Given the description of an element on the screen output the (x, y) to click on. 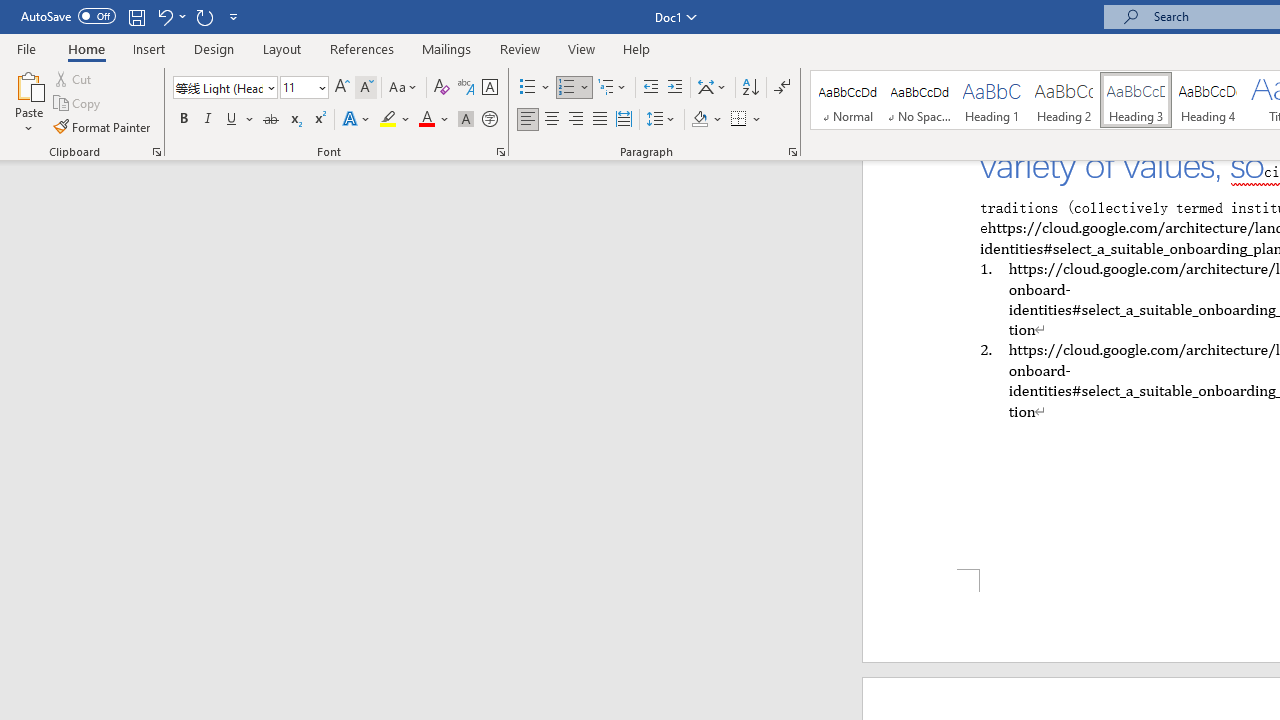
Strikethrough (270, 119)
Shrink Font (365, 87)
Shading RGB(0, 0, 0) (699, 119)
Font Color (434, 119)
Multilevel List (613, 87)
Align Right (575, 119)
Distributed (623, 119)
Font... (500, 151)
